Given the description of an element on the screen output the (x, y) to click on. 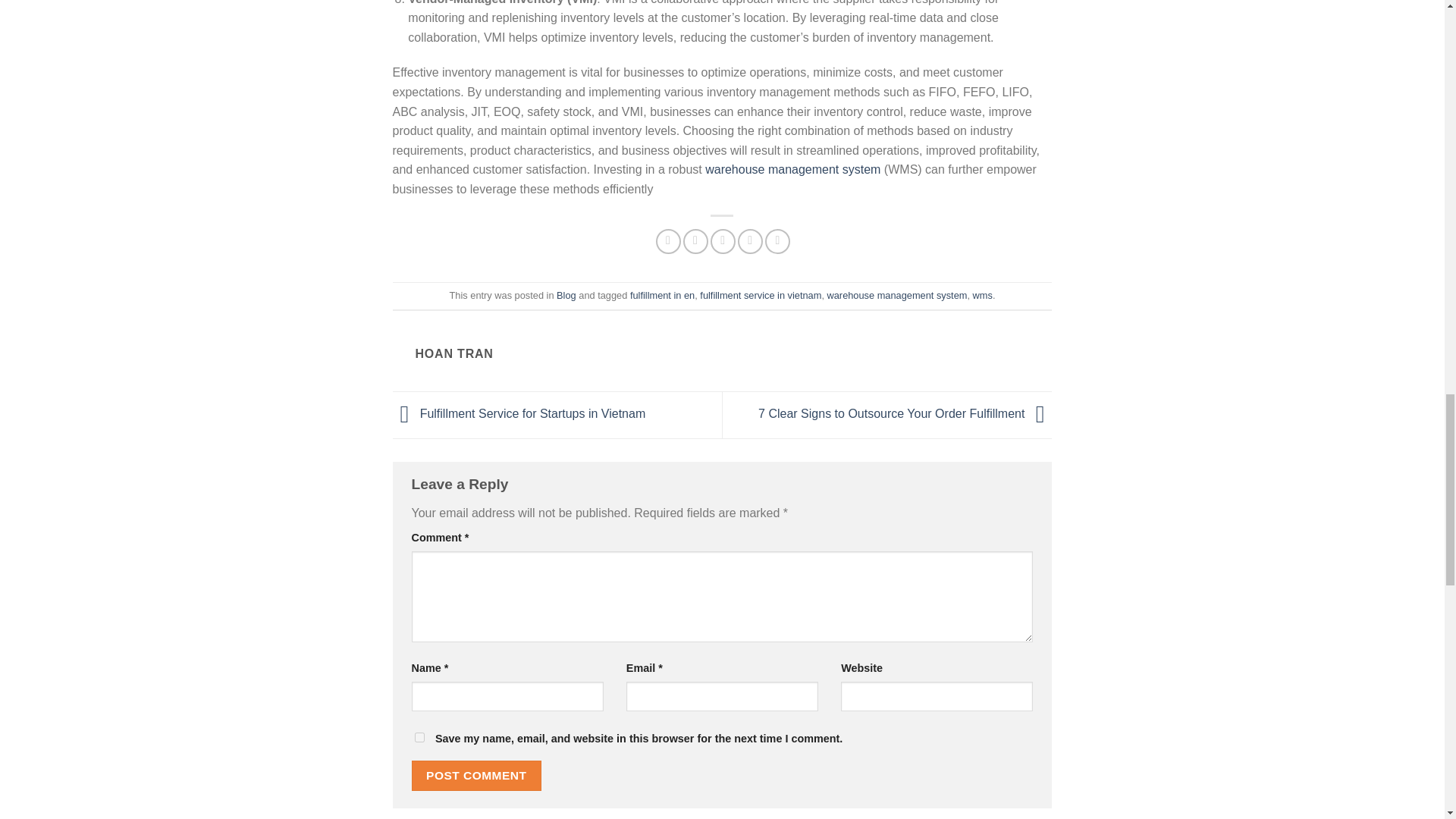
Pin on Pinterest (750, 241)
Blog (566, 295)
Fulfillment Service for Startups in Vietnam (519, 413)
Post Comment (475, 775)
fulfillment in en (662, 295)
Share on Twitter (694, 241)
wms (982, 295)
Share on LinkedIn (777, 241)
fulfillment service in vietnam (760, 295)
yes (418, 737)
7 Clear Signs to Outsource Your Order Fulfillment (904, 413)
warehouse management system (792, 169)
Post Comment (475, 775)
warehouse management system (897, 295)
Email to a Friend (722, 241)
